Given the description of an element on the screen output the (x, y) to click on. 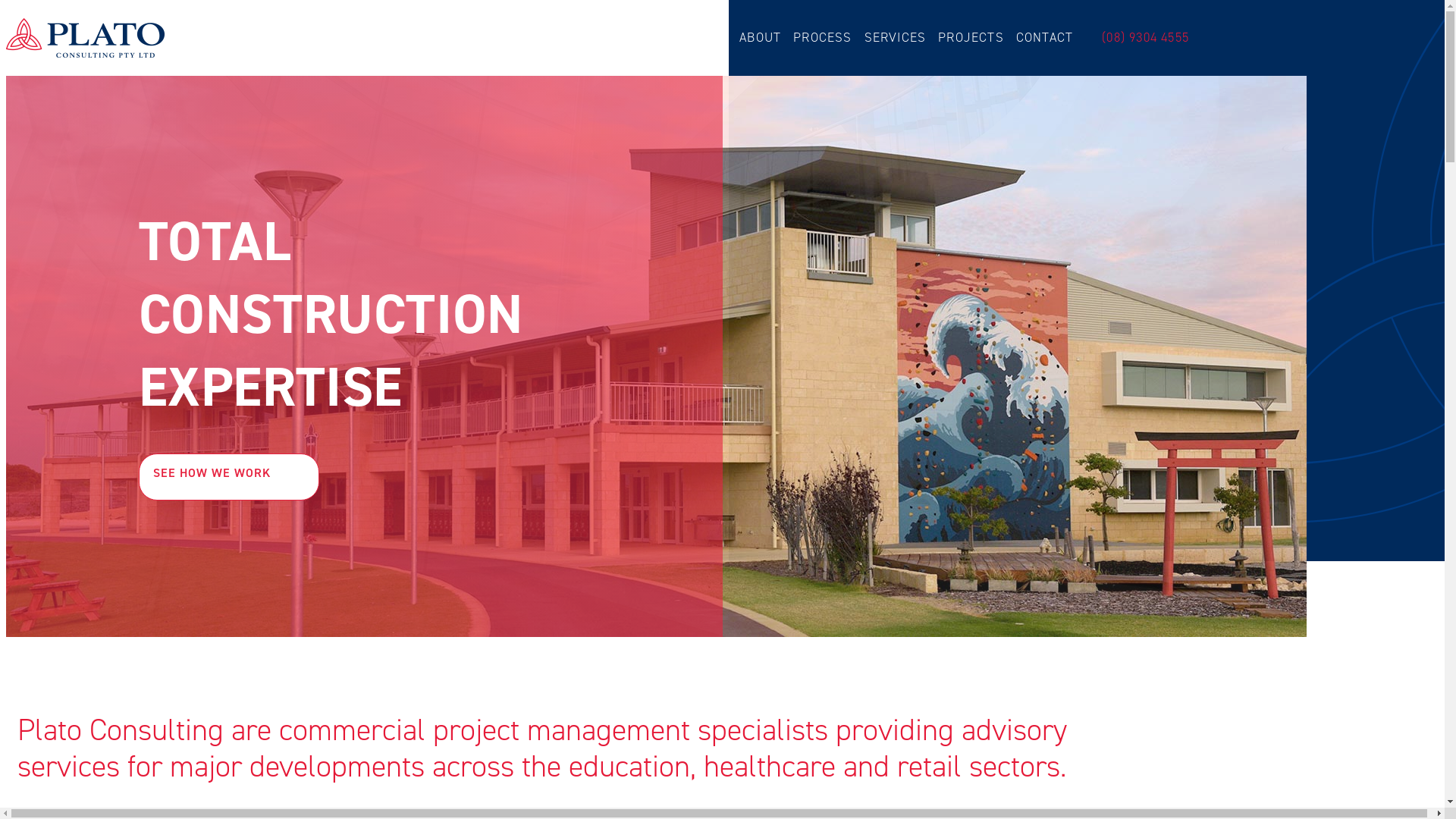
ABOUT Element type: text (760, 36)
SEE HOW WE WORK Element type: text (228, 476)
SERVICES Element type: text (895, 36)
PROCESS Element type: text (822, 36)
PROJECTS Element type: text (971, 36)
(08) 9304 4555 Element type: text (1145, 36)
CONTACT Element type: text (1044, 36)
